Given the description of an element on the screen output the (x, y) to click on. 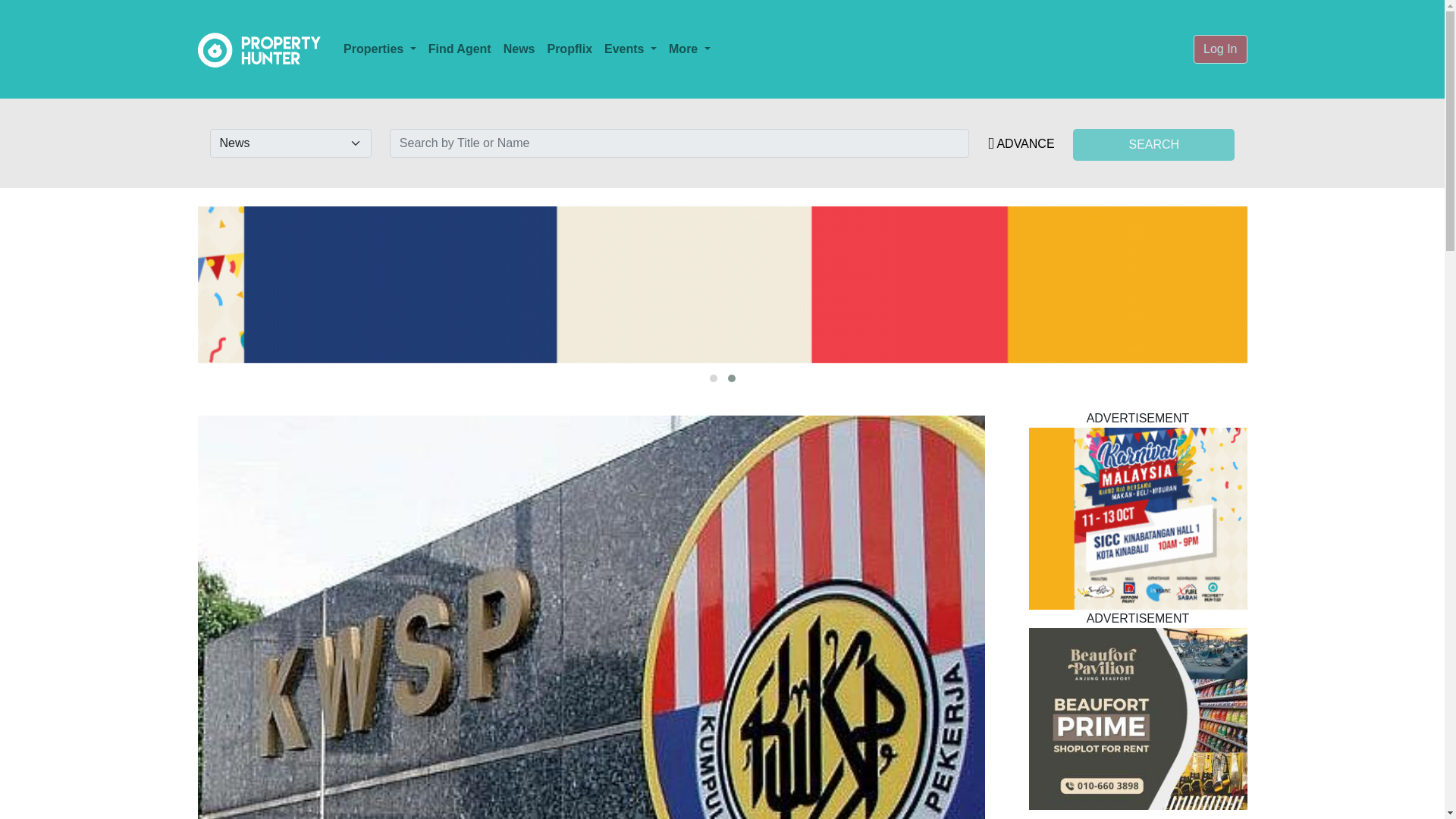
Sidebox (1136, 518)
Propflix (569, 49)
News (519, 49)
More (689, 49)
Events (630, 49)
Find Agent (459, 49)
Sidebox (1136, 718)
Properties (379, 49)
